Given the description of an element on the screen output the (x, y) to click on. 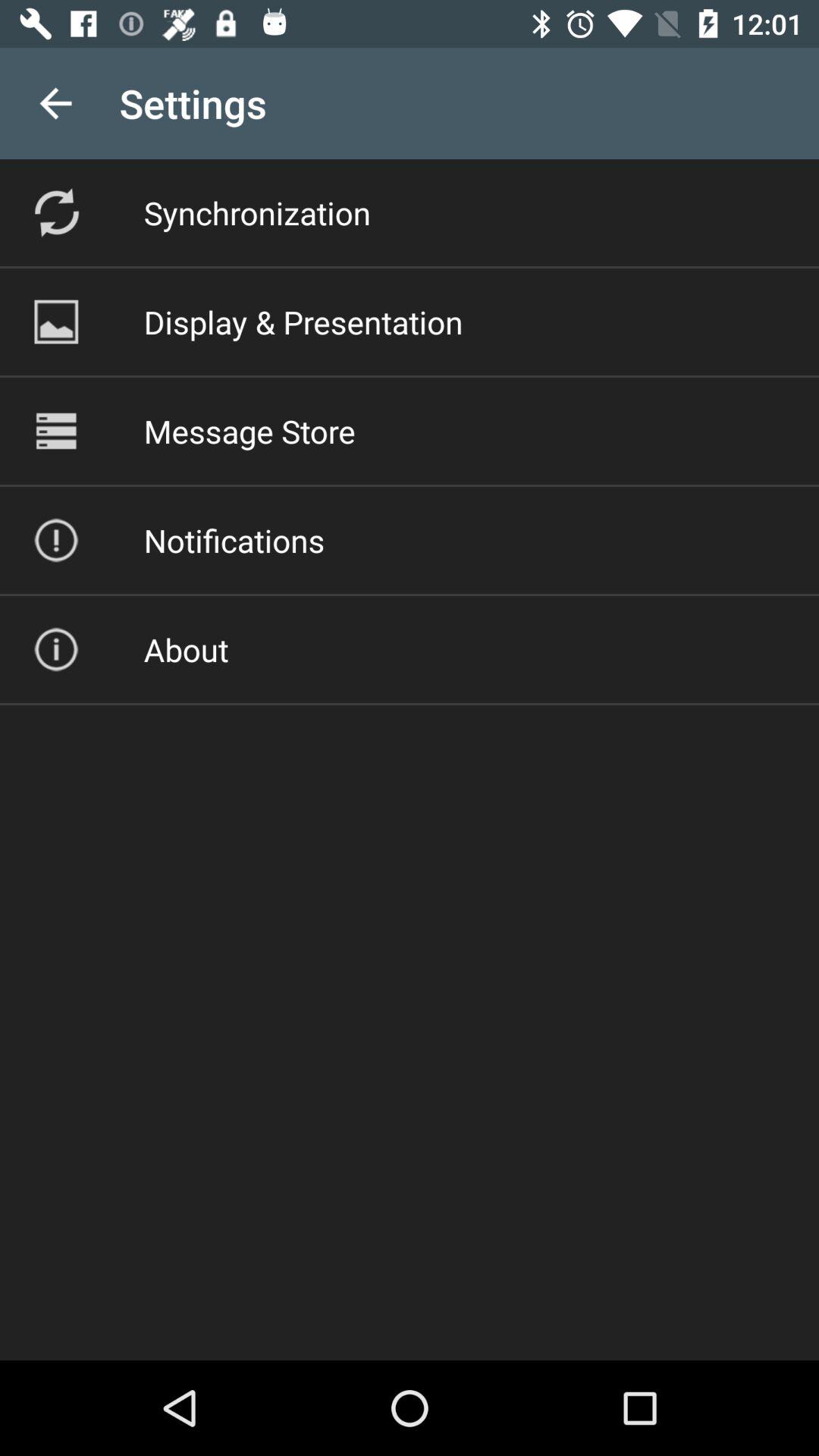
choose the synchronization icon (256, 212)
